Given the description of an element on the screen output the (x, y) to click on. 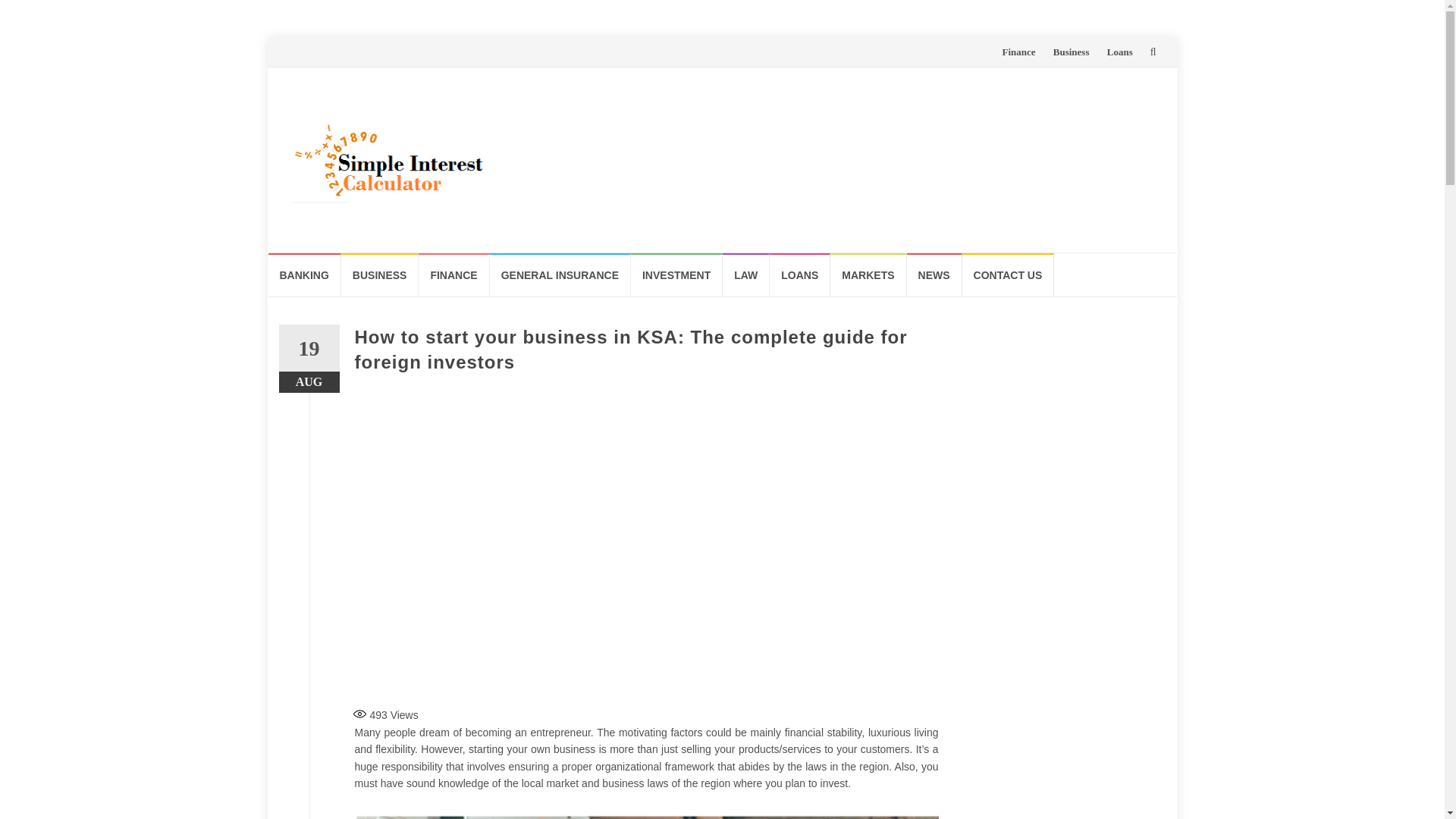
FINANCE (454, 274)
GENERAL INSURANCE (559, 274)
LAW (746, 274)
Advertisement (647, 620)
INVESTMENT (676, 274)
BANKING (303, 274)
MARKETS (867, 274)
BUSINESS (379, 274)
LOANS (799, 274)
